Given the description of an element on the screen output the (x, y) to click on. 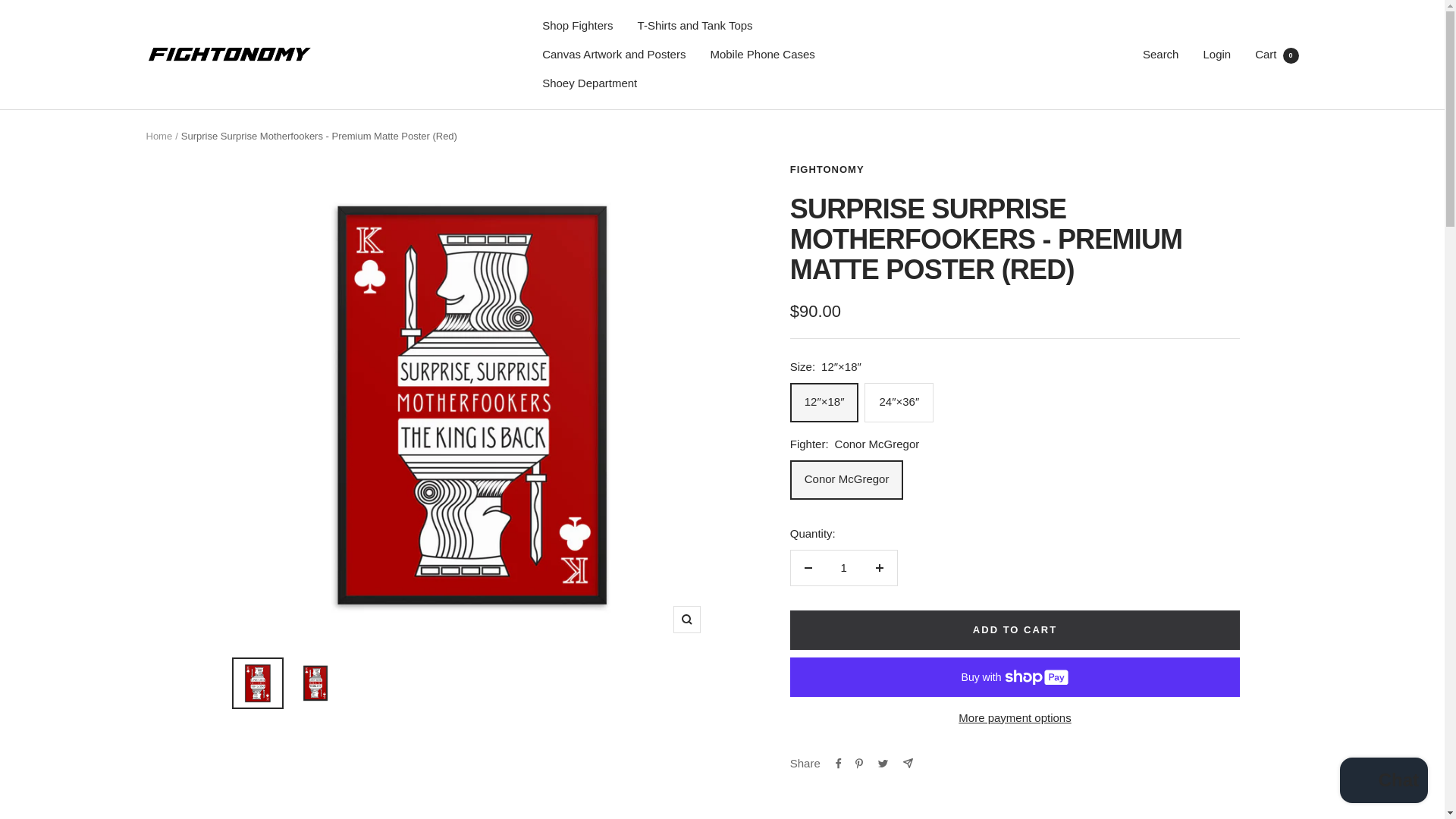
Search (1160, 53)
Login (1216, 53)
Increase quantity (878, 567)
T-Shirts and Tank Tops (694, 25)
ADD TO CART (1276, 53)
Shop Fighters (1015, 630)
More payment options (576, 25)
Shopify online store chat (1015, 718)
Mobile Phone Cases (1383, 781)
